Given the description of an element on the screen output the (x, y) to click on. 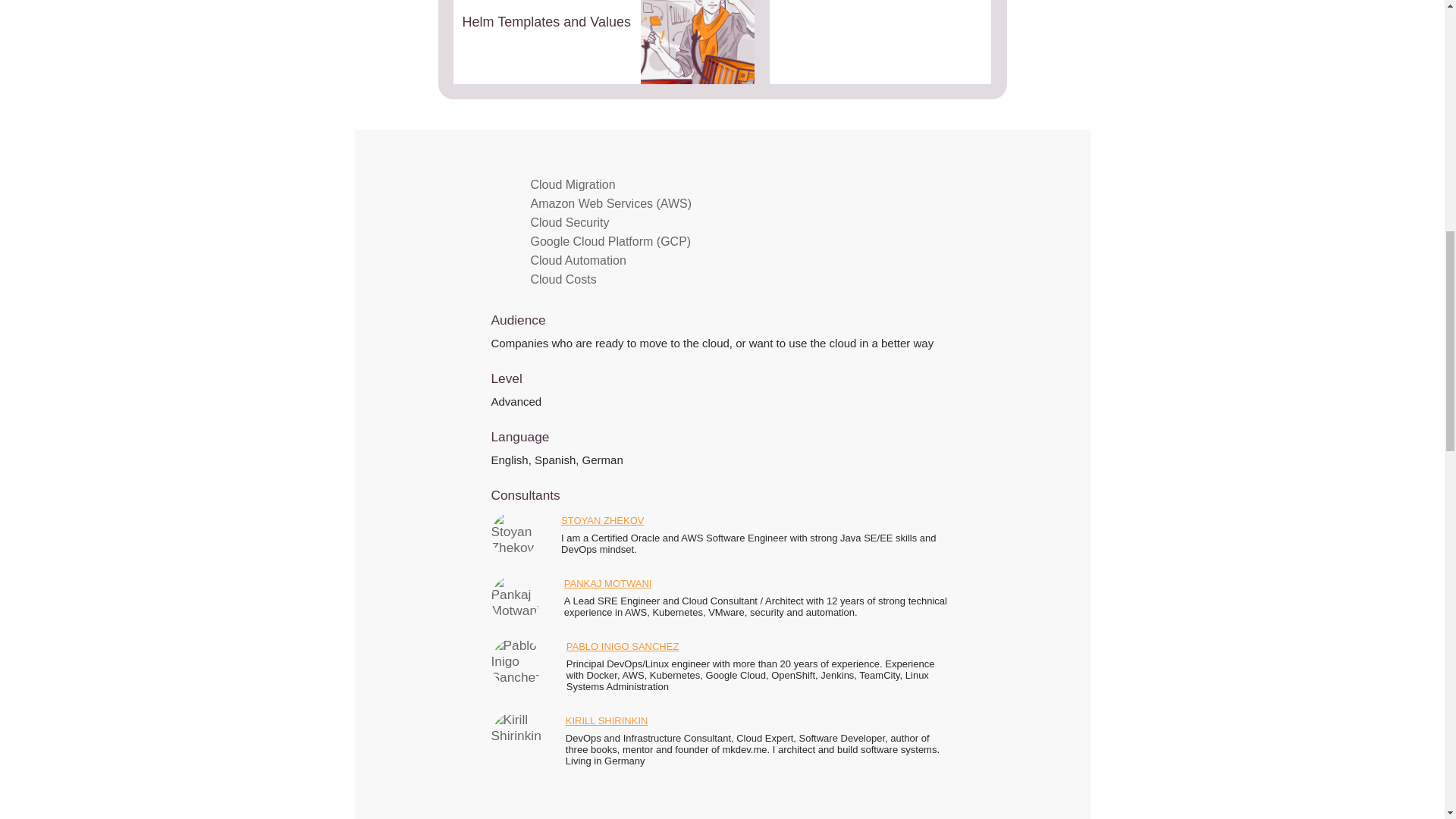
Pablo Inigo Sanchez (516, 663)
Stoyan Zhekov (514, 534)
KIRILL SHIRINKIN (606, 723)
Helm Templates and Values (603, 42)
PANKAJ MOTWANI (608, 586)
Pankaj Motwani (516, 598)
STOYAN ZHEKOV (601, 523)
Kirill Shirinkin (516, 736)
YouTube video player (883, 42)
PABLO INIGO SANCHEZ (622, 649)
